Given the description of an element on the screen output the (x, y) to click on. 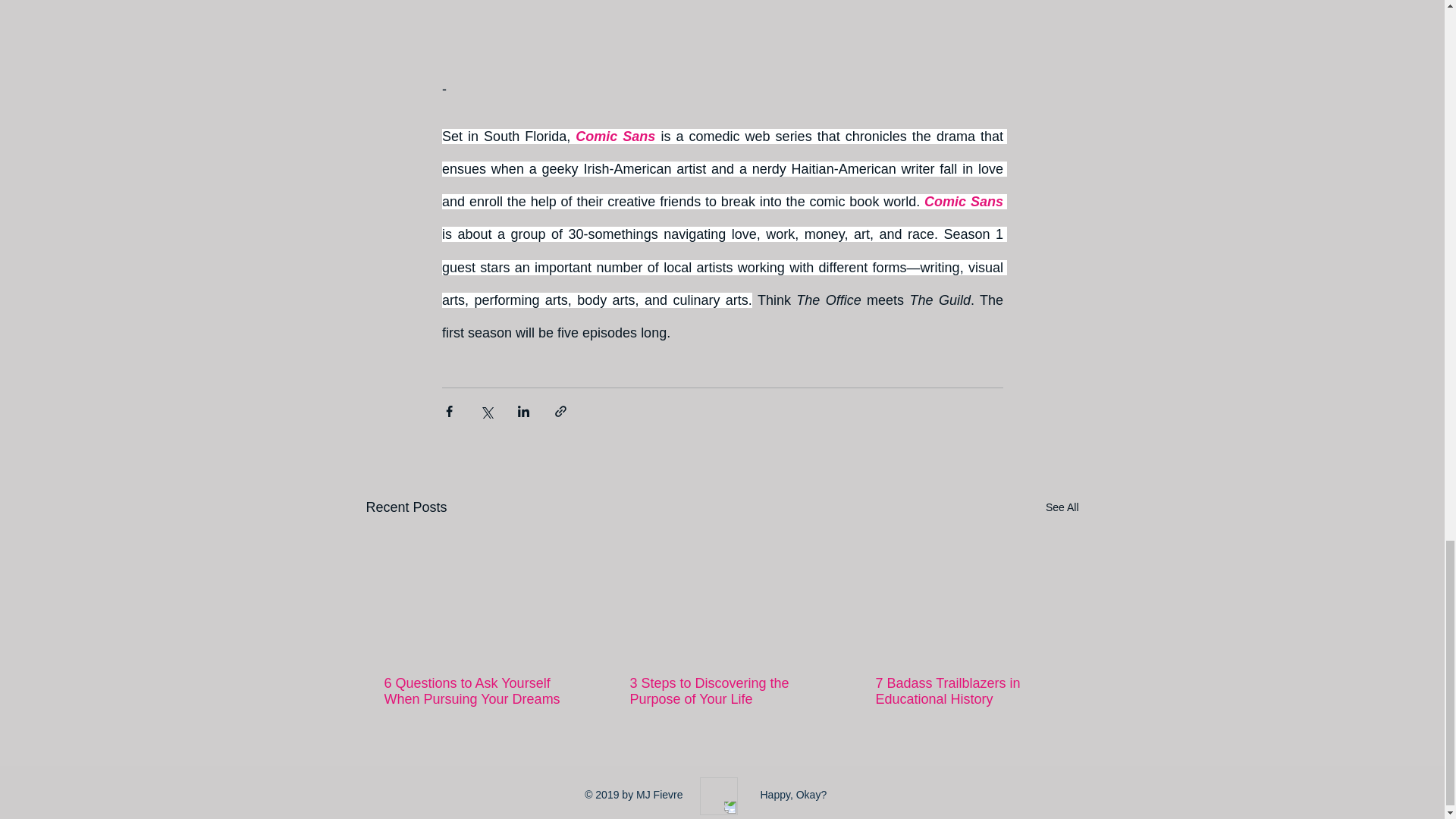
7 Badass Trailblazers in Educational History (966, 691)
3 Steps to Discovering the Purpose of Your Life (720, 691)
See All (1061, 507)
Happy, Okay? (793, 794)
6 Questions to Ask Yourself When Pursuing Your Dreams (475, 691)
